Given the description of an element on the screen output the (x, y) to click on. 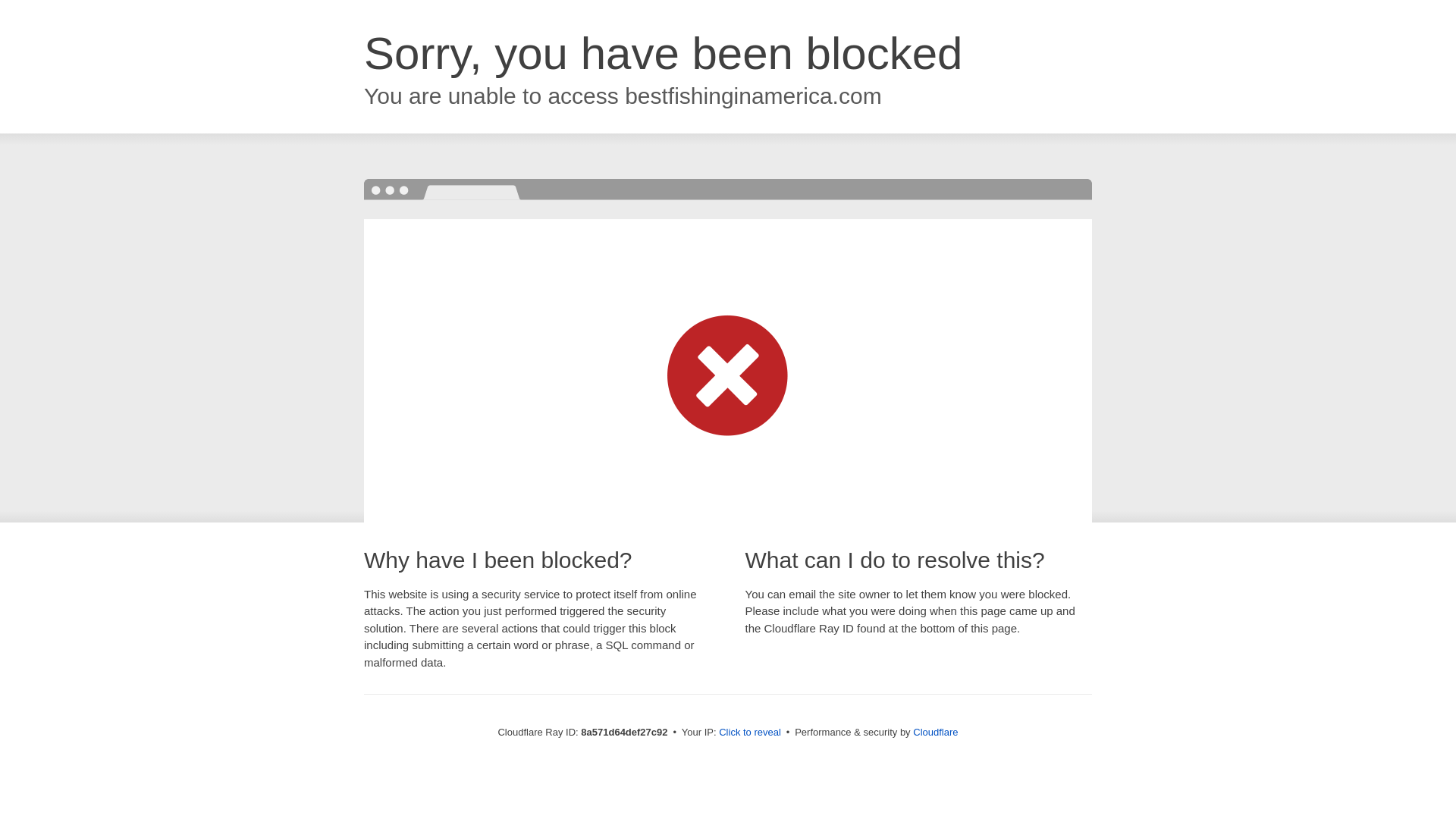
Cloudflare (935, 731)
Click to reveal (749, 732)
